Given the description of an element on the screen output the (x, y) to click on. 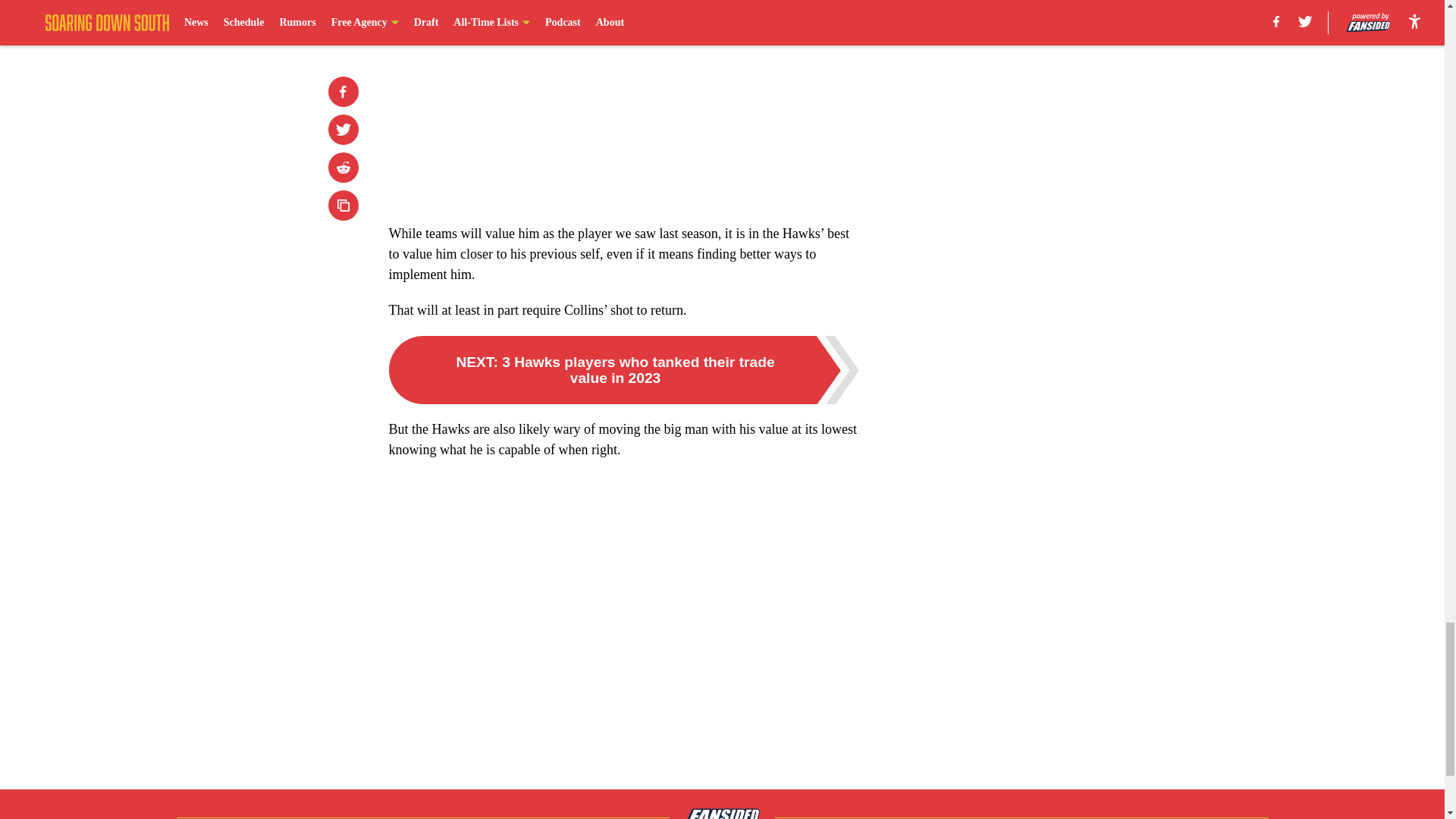
NEXT: 3 Hawks players who tanked their trade value in 2023 (623, 369)
